Given the description of an element on the screen output the (x, y) to click on. 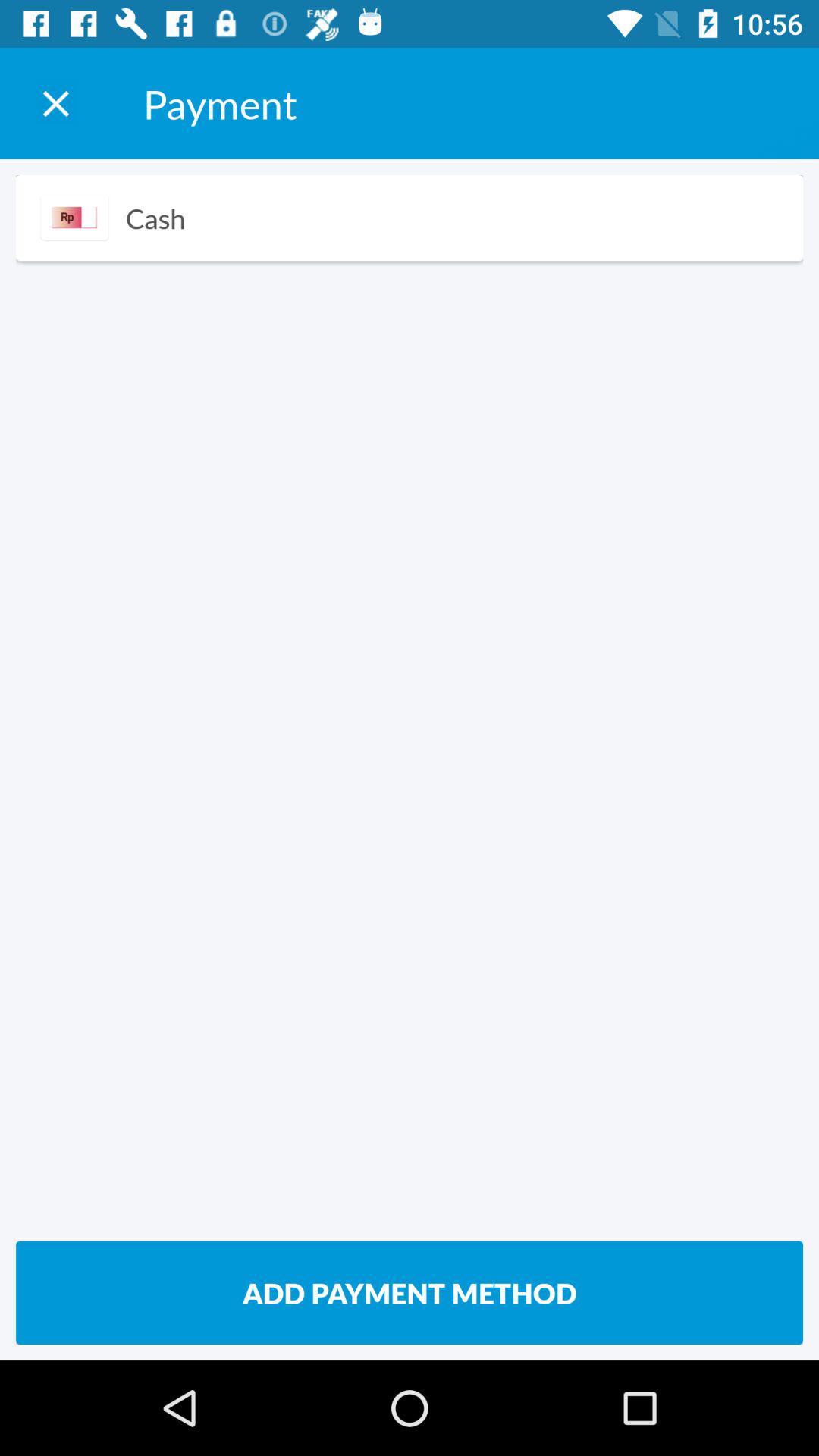
press the icon next to the cash item (74, 217)
